Given the description of an element on the screen output the (x, y) to click on. 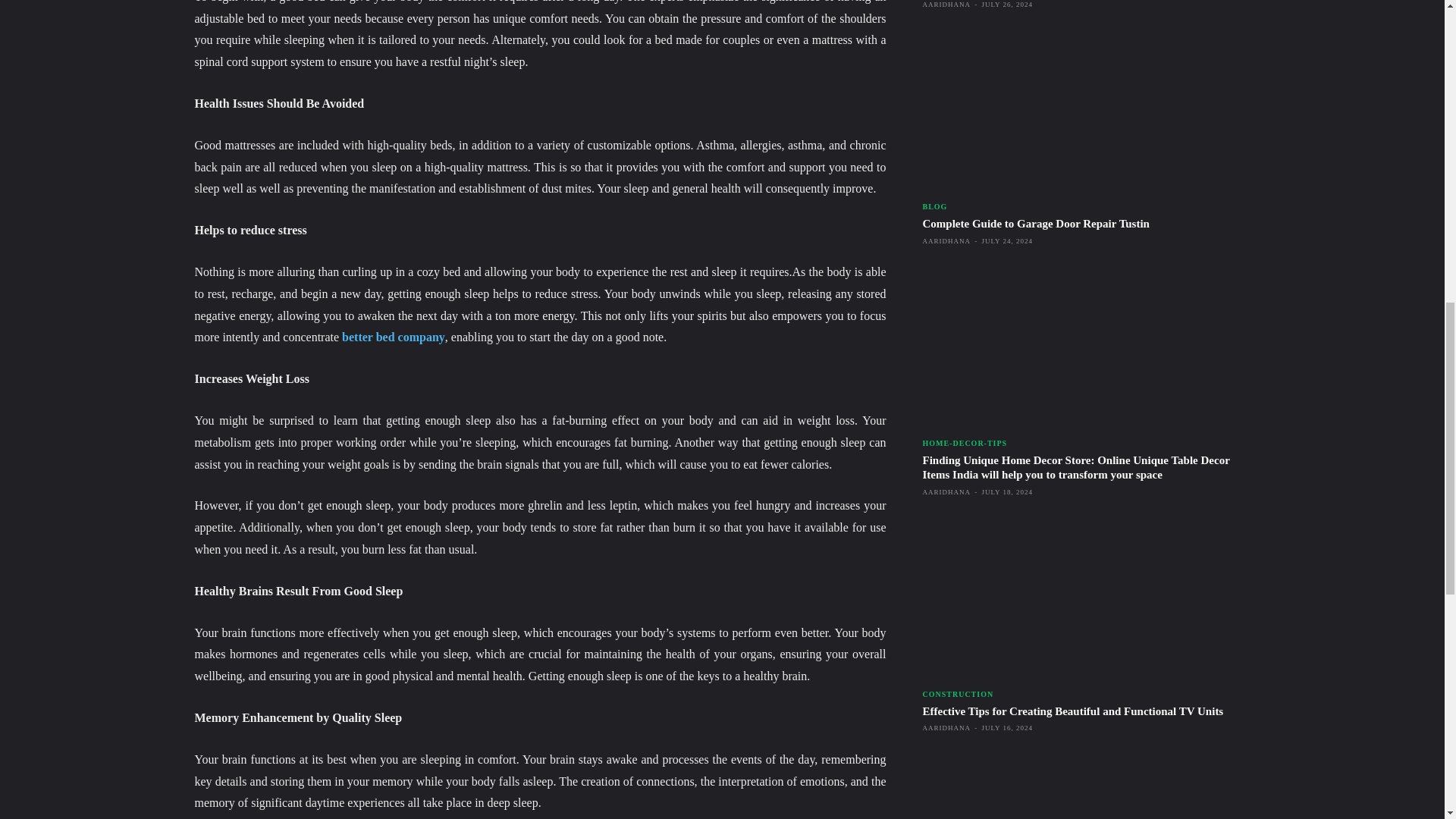
Complete Guide to Garage Door Repair Tustin (1085, 111)
Complete Guide to Garage Door Repair Tustin (1034, 223)
better bed company (392, 336)
BLOG (934, 206)
AARIDHANA (946, 4)
